Given the description of an element on the screen output the (x, y) to click on. 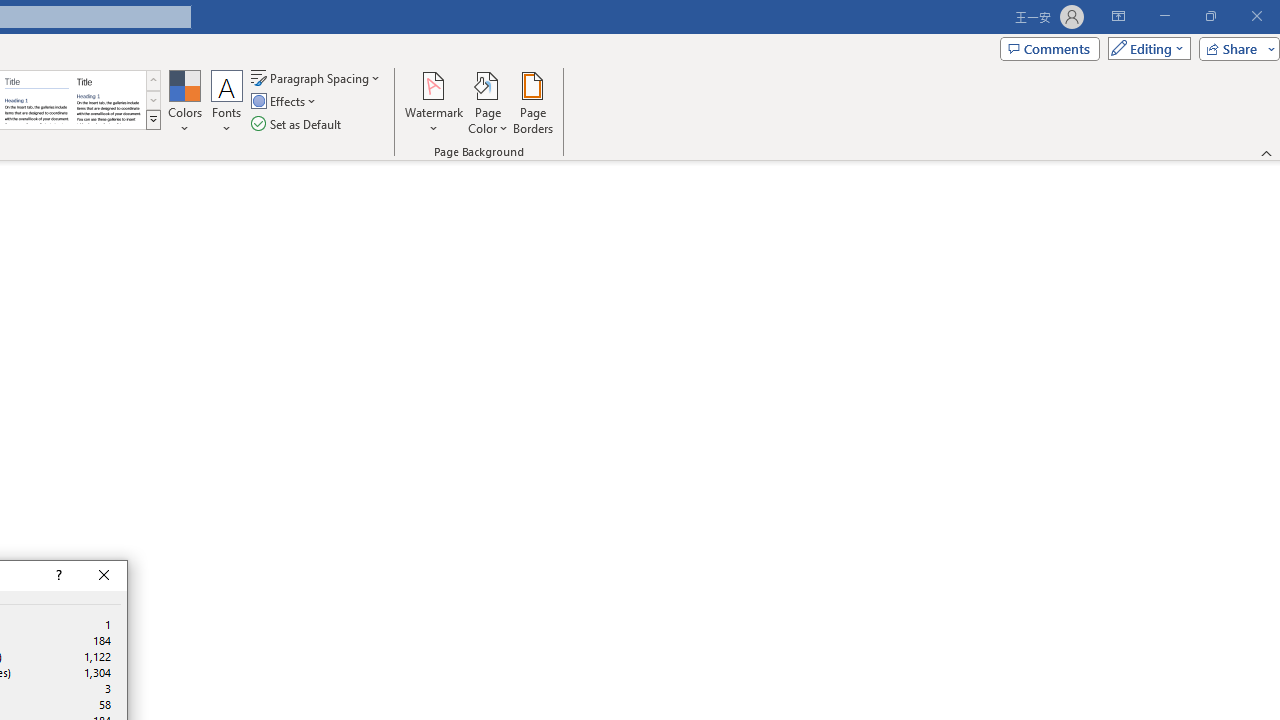
Colors (184, 102)
Word 2010 (36, 100)
Word 2013 (108, 100)
Style Set (153, 120)
Paragraph Spacing (317, 78)
Effects (285, 101)
Watermark (434, 102)
Fonts (227, 102)
